Given the description of an element on the screen output the (x, y) to click on. 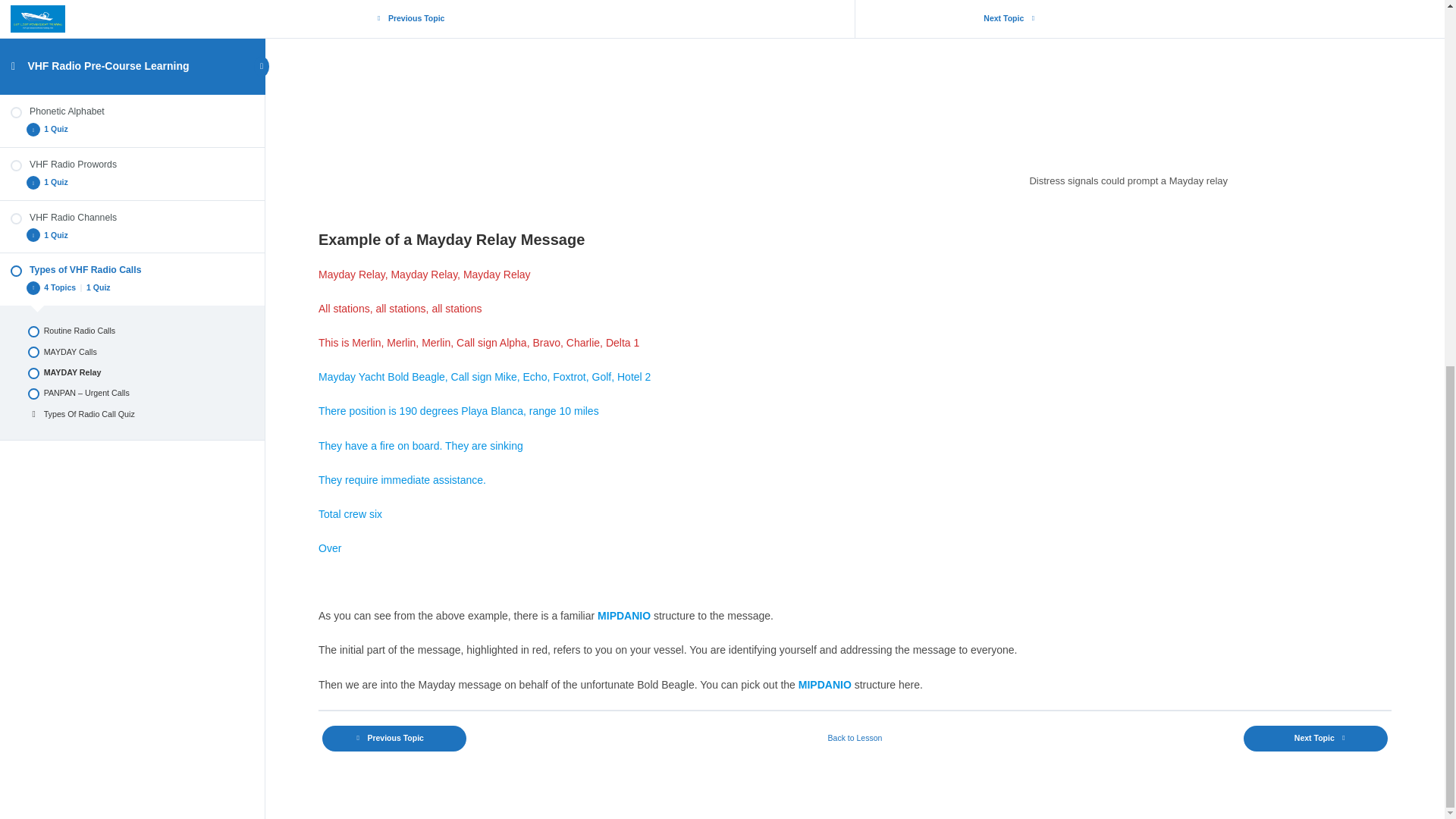
Next Topic (1315, 738)
IRPCS Masterclass - Colregs - Annex 4 - Distress Signals (1128, 78)
Back to Lesson (855, 738)
Previous Topic (393, 738)
